Given the description of an element on the screen output the (x, y) to click on. 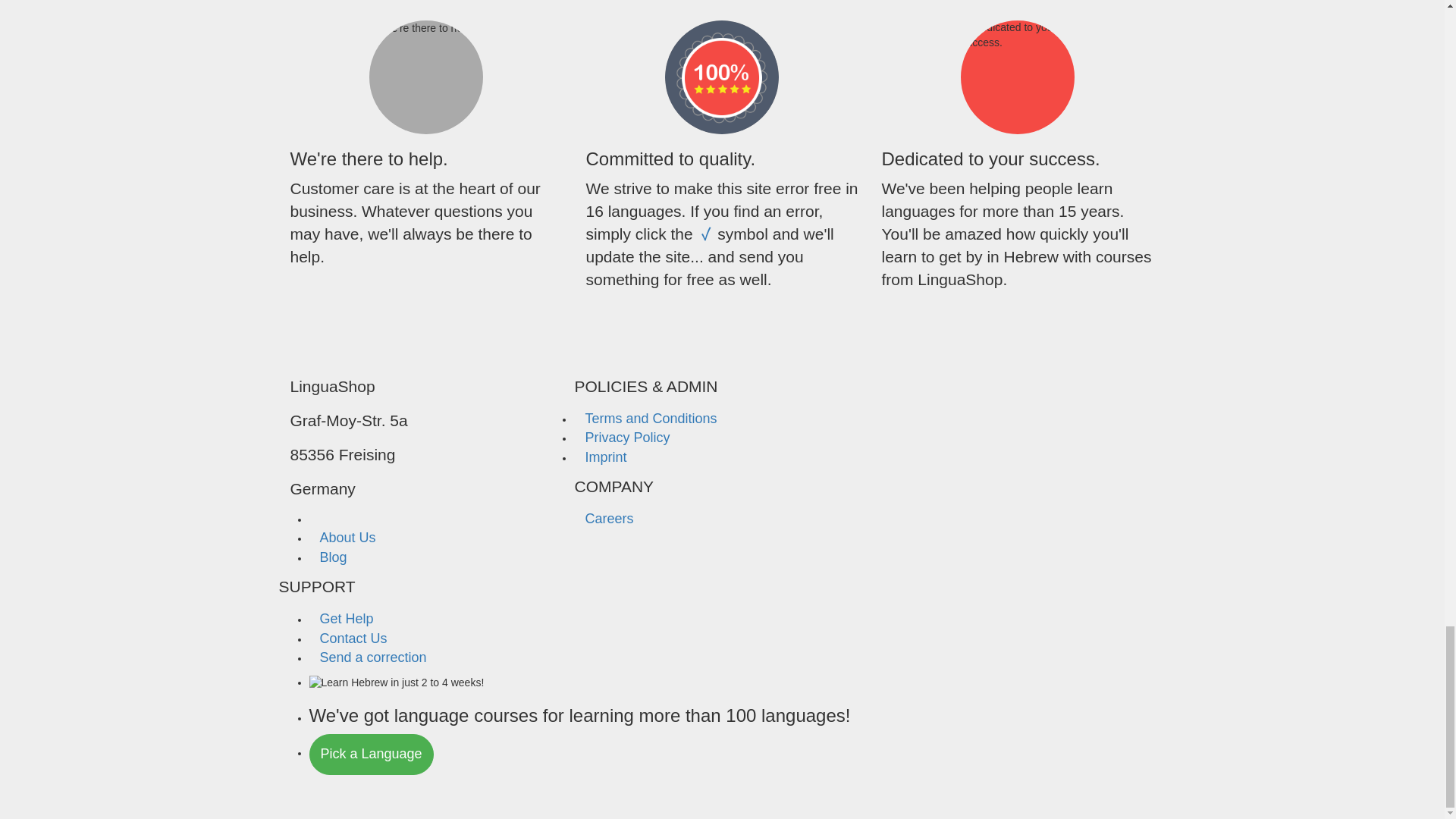
Blog (333, 556)
Privacy Policy (626, 437)
Imprint (605, 456)
About Us (347, 537)
Careers (608, 518)
Pick a Language (370, 753)
Terms and Conditions (649, 418)
Send a correction (373, 657)
Contact Us (352, 637)
Get Help (346, 618)
